Given the description of an element on the screen output the (x, y) to click on. 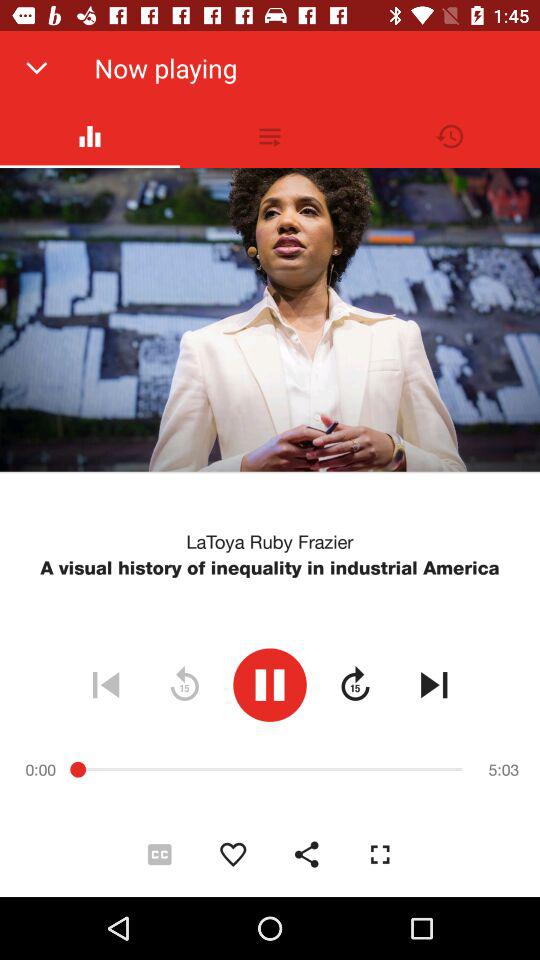
select the icon below the a visual history icon (105, 684)
